Given the description of an element on the screen output the (x, y) to click on. 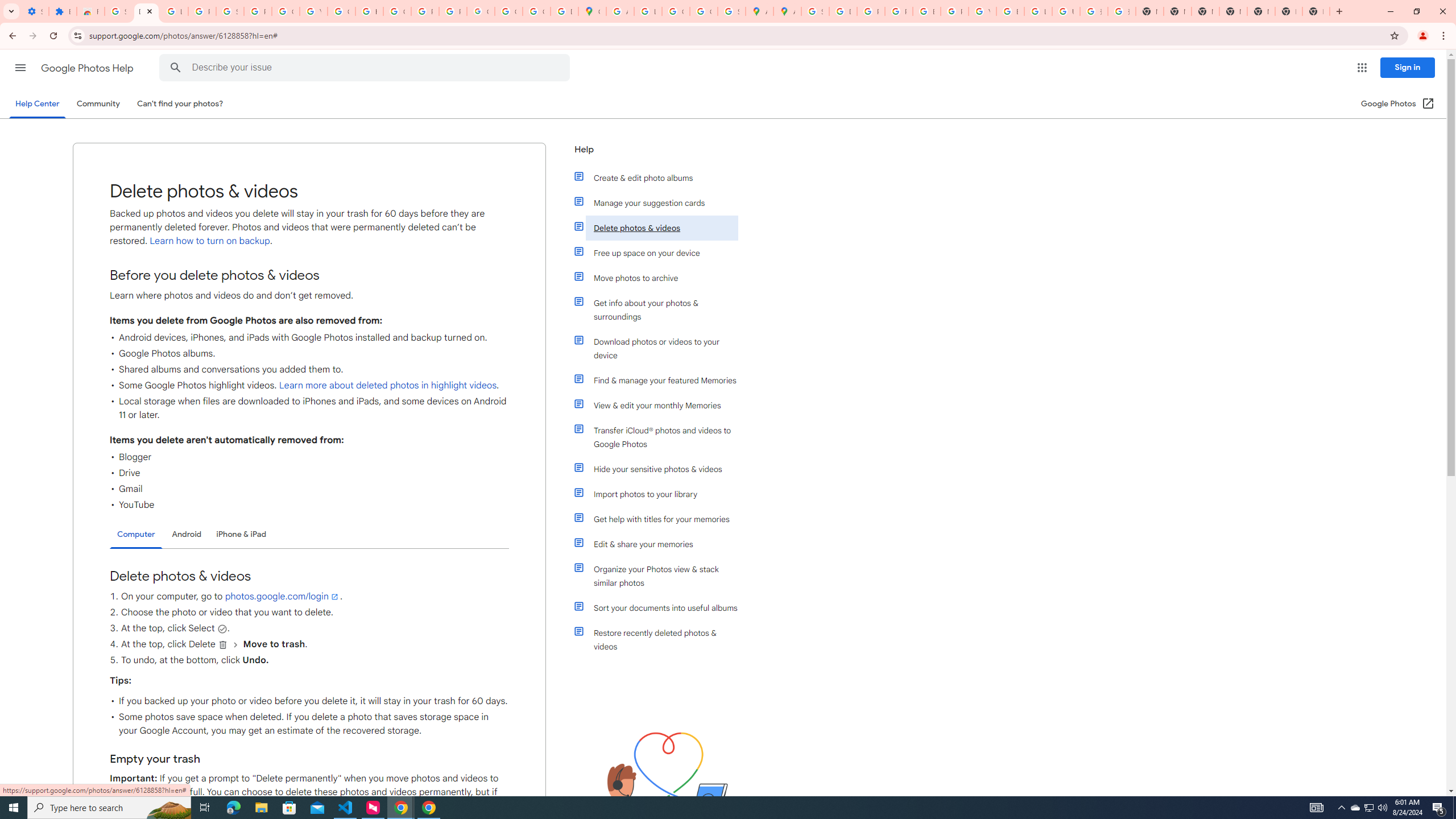
Sign in - Google Accounts (229, 11)
Describe your issue (366, 67)
Android (186, 533)
and then (235, 644)
Hide your sensitive photos & videos (661, 469)
Safety in Our Products - Google Safety Center (731, 11)
Restore recently deleted photos & videos (661, 639)
Download photos or videos to your device (661, 348)
Select (221, 628)
